Given the description of an element on the screen output the (x, y) to click on. 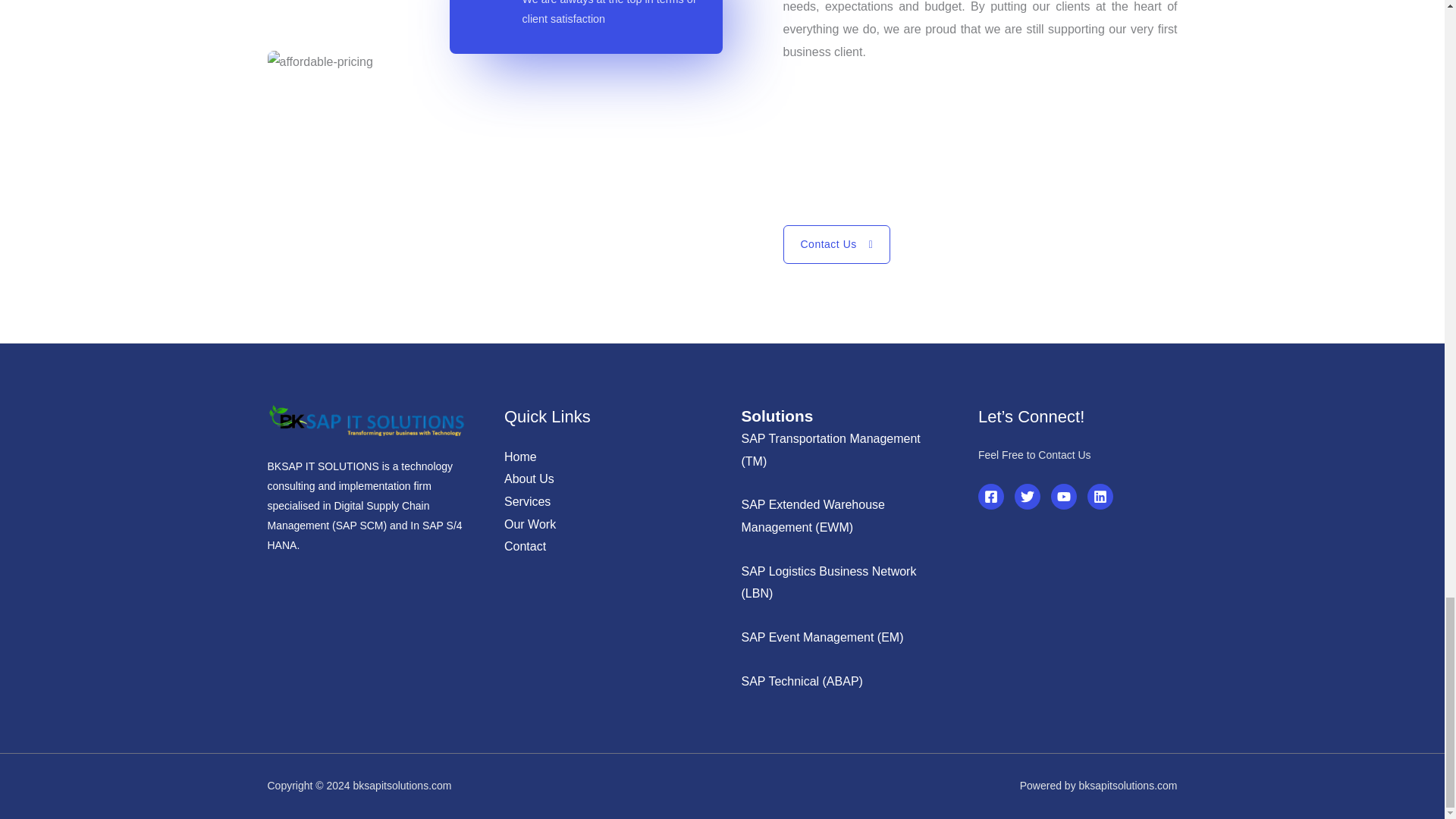
Our Work (529, 523)
Services (526, 501)
Contact Us (836, 244)
Contact (524, 545)
Home (520, 456)
affordable-pricing (469, 61)
About Us (528, 478)
